Given the description of an element on the screen output the (x, y) to click on. 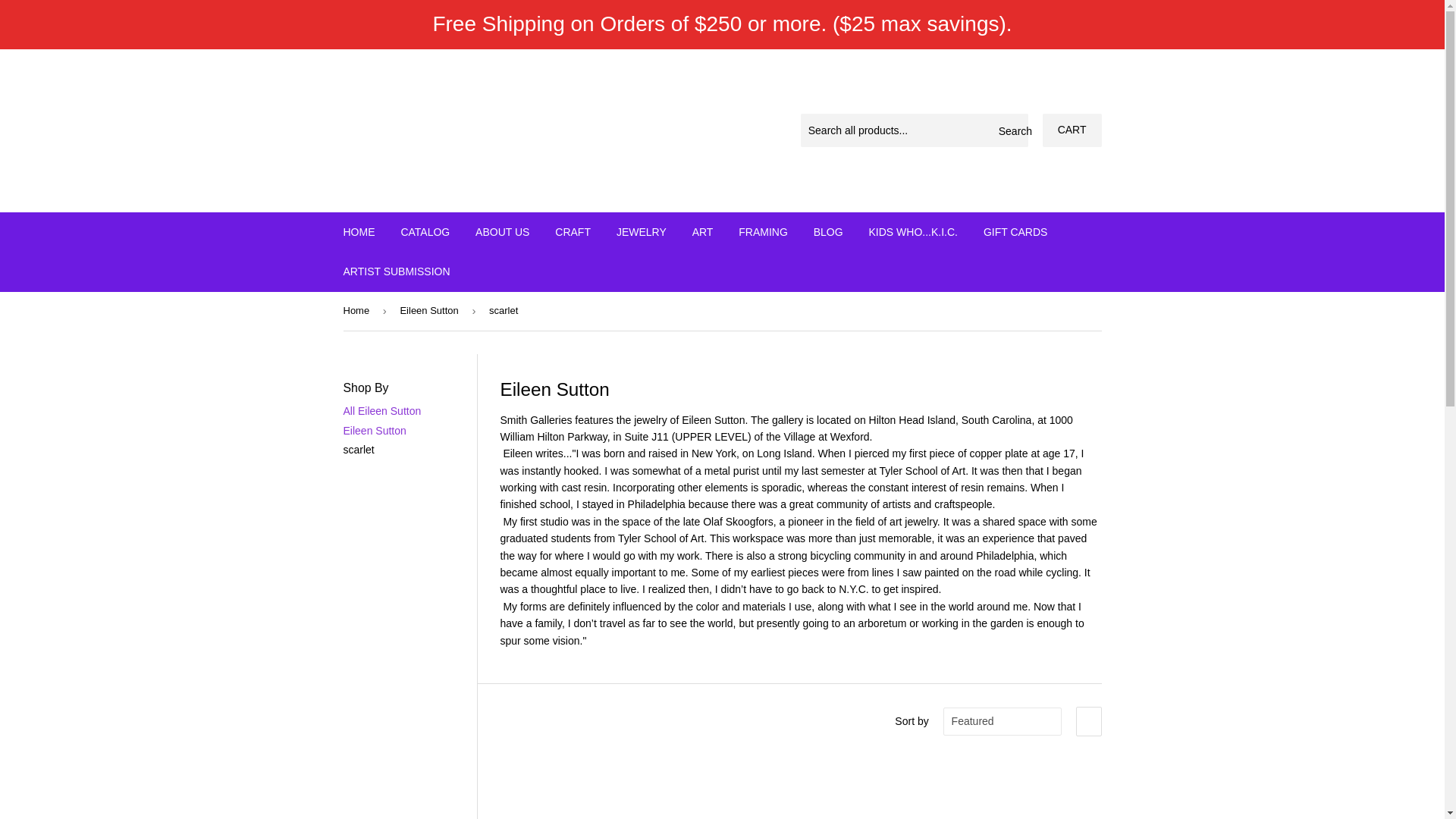
Show products matching tag Eileen Sutton (374, 430)
CART (1072, 130)
Search (1010, 131)
